Given the description of an element on the screen output the (x, y) to click on. 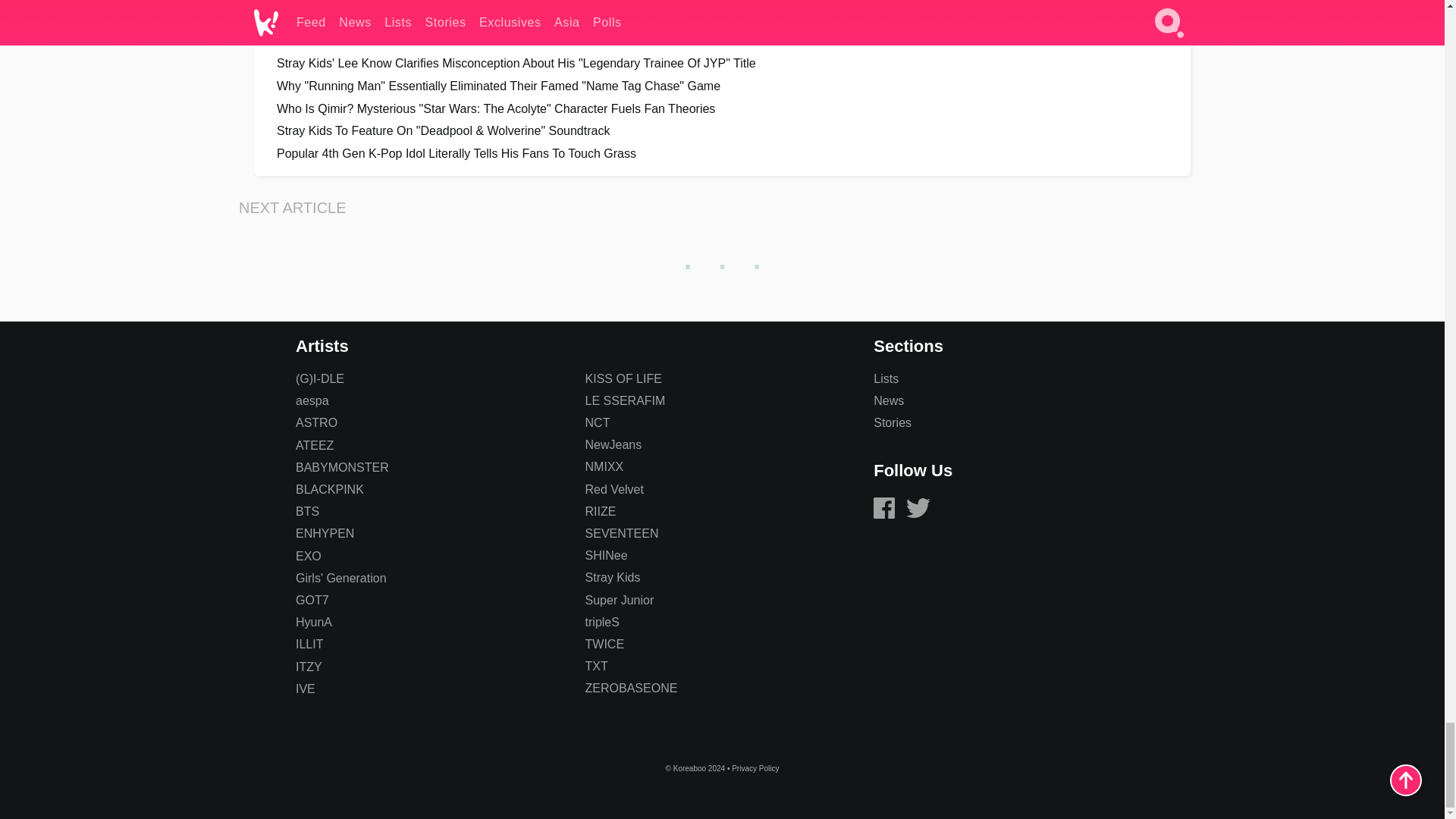
ATEEZ (314, 445)
HyunA (313, 621)
BTS (306, 511)
GOT7 (312, 599)
BLACKPINK (329, 489)
aespa (312, 400)
BABYMONSTER (341, 467)
ITZY (308, 666)
ASTRO (316, 422)
ENHYPEN (324, 533)
ILLIT (309, 644)
Girls' Generation (341, 577)
EXO (308, 555)
